Given the description of an element on the screen output the (x, y) to click on. 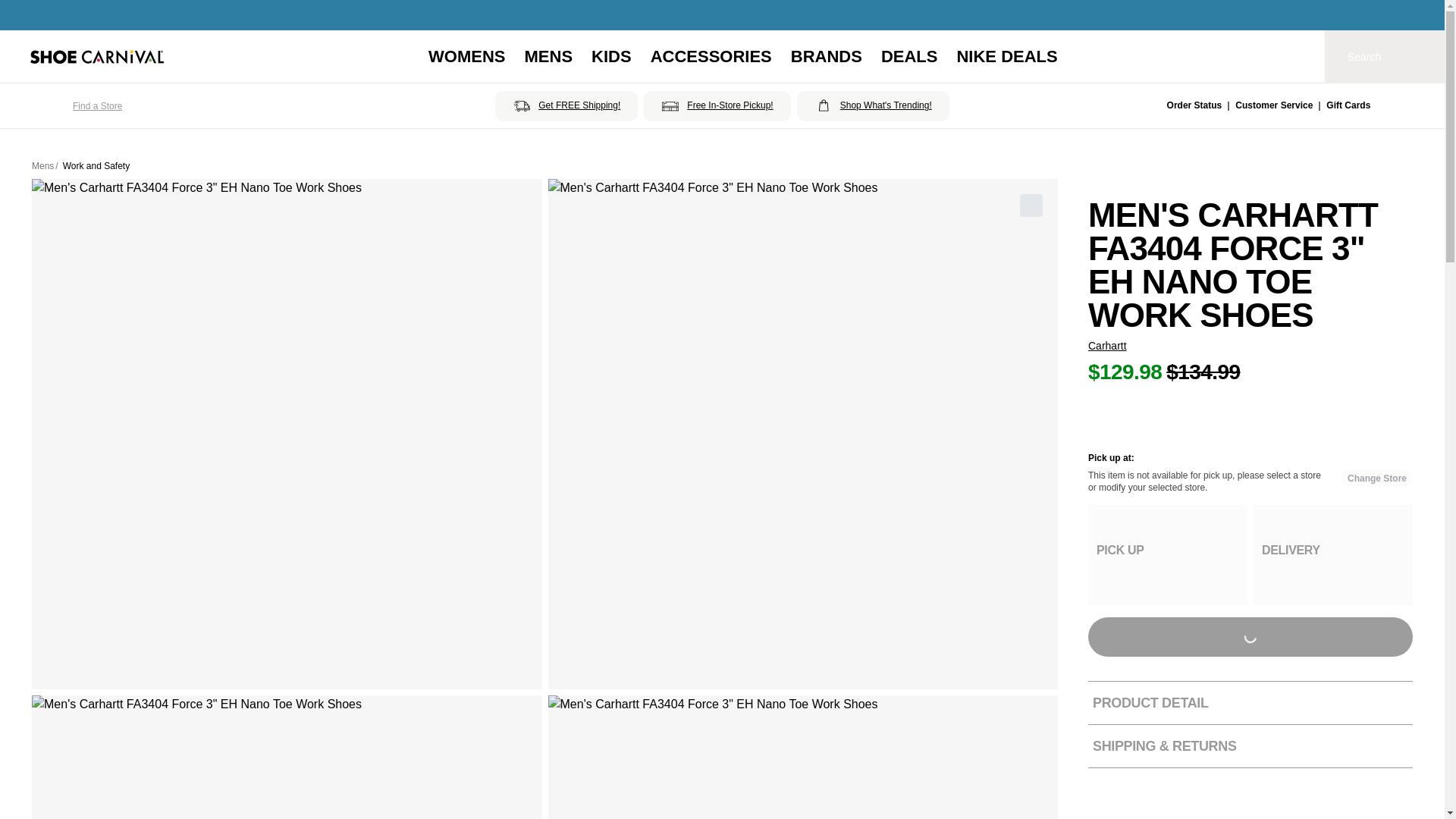
WOMENS (466, 55)
Free In-Store Pickup! (716, 105)
Gift Cards (1348, 106)
Get FREE Shipping! (566, 105)
Shoe Carnival Home (96, 56)
KIDS (611, 55)
ACCESSORIES (710, 55)
Order Status (1195, 106)
NIKE DEALS (1006, 55)
Shop What's Trending! (872, 105)
Loading... (1249, 636)
BRANDS (825, 55)
DELIVERY (1332, 554)
Carhartt (1106, 345)
Customer Service (1273, 106)
